Given the description of an element on the screen output the (x, y) to click on. 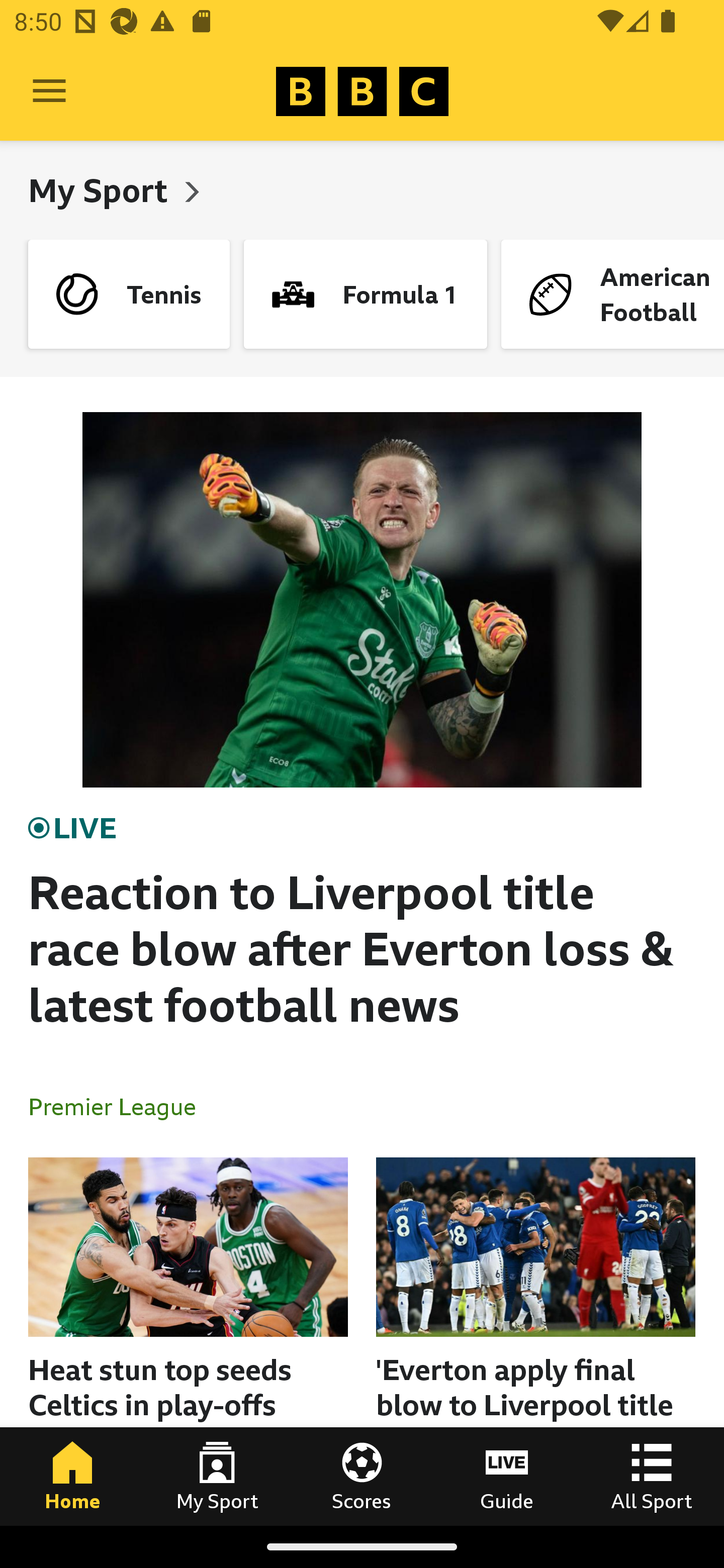
Open Menu (49, 91)
My Sport (101, 190)
Premier League In the section Premier League (119, 1106)
My Sport (216, 1475)
Scores (361, 1475)
Guide (506, 1475)
All Sport (651, 1475)
